Given the description of an element on the screen output the (x, y) to click on. 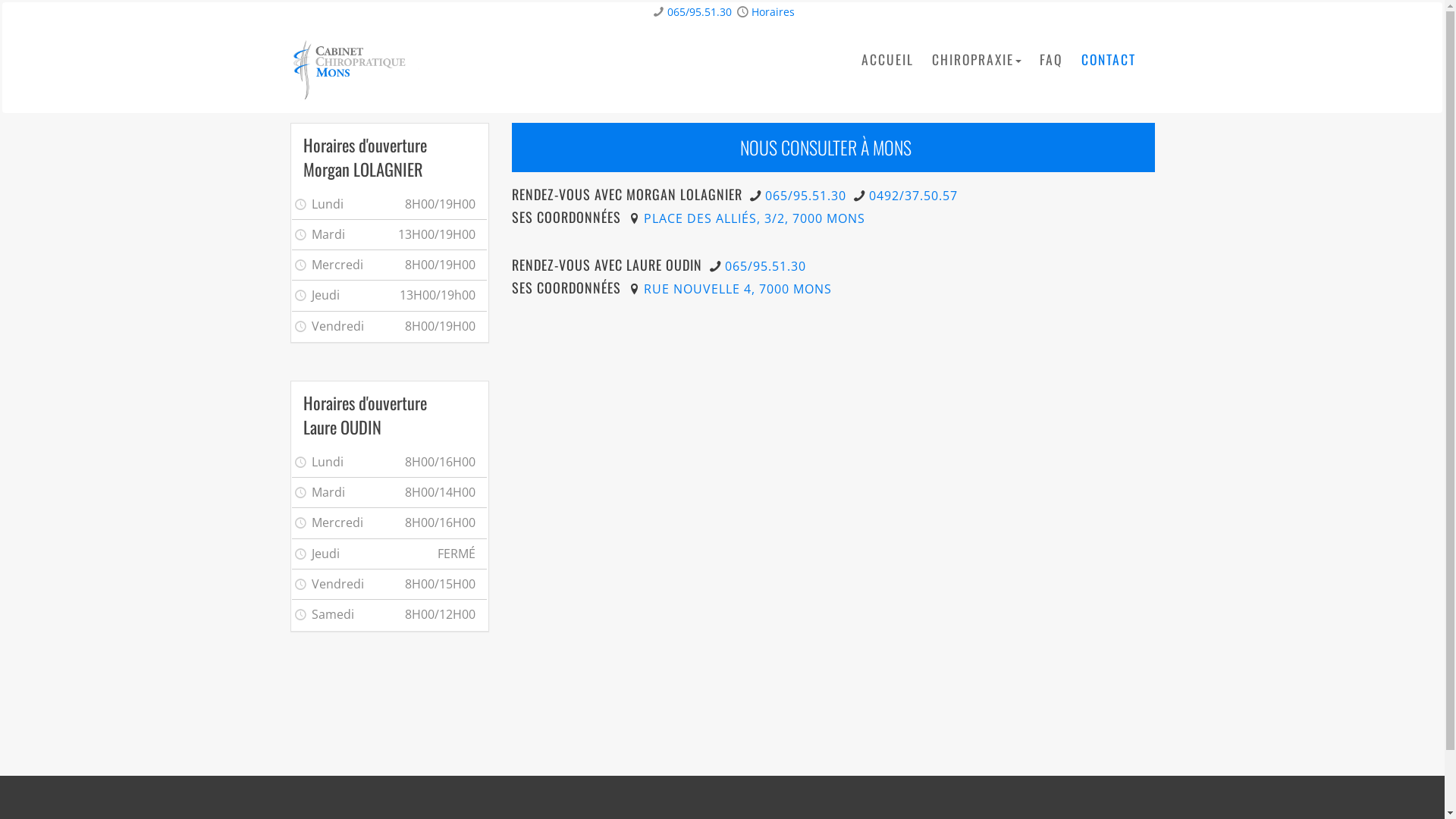
FAQ Element type: text (1050, 59)
CHIROPRAXIE Element type: text (975, 59)
ACCUEIL Element type: text (887, 59)
RUE NOUVELLE 4, 7000 MONS Element type: text (737, 288)
0492/37.50.57 Element type: text (913, 195)
CONTACT Element type: text (1108, 59)
065/95.51.30 Element type: text (765, 265)
065/95.51.30 Element type: text (699, 11)
065/95.51.30 Element type: text (805, 195)
Horaires Element type: text (772, 11)
